Given the description of an element on the screen output the (x, y) to click on. 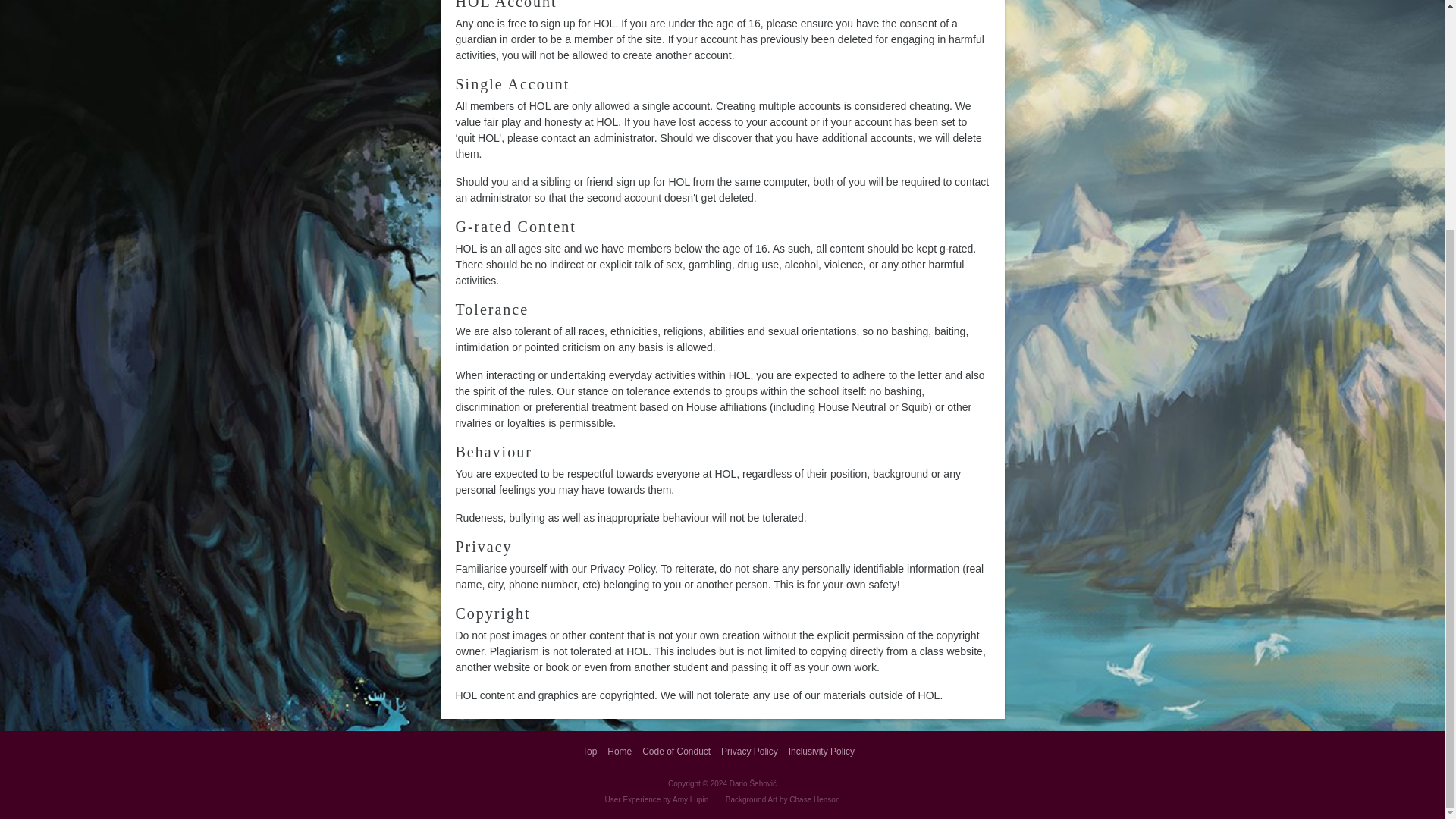
Privacy Policy (753, 751)
Inclusivity Policy (825, 751)
Home (623, 751)
Top (593, 751)
Code of Conduct (679, 751)
